Given the description of an element on the screen output the (x, y) to click on. 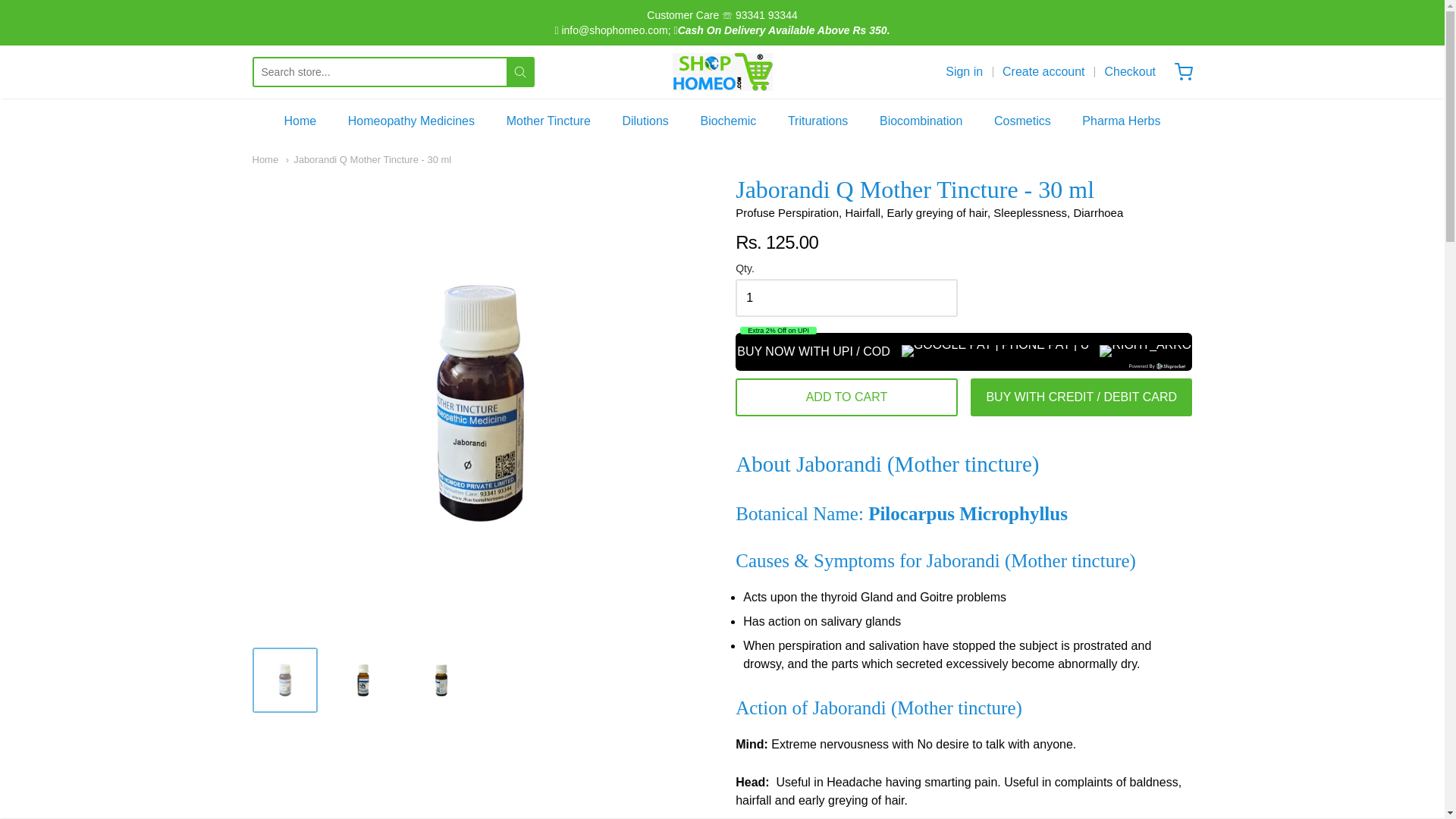
Jaborandi Q Mother Tincture - 30 ml (284, 679)
Jaborandi Q Mother Tincture - 30 ml (363, 679)
Dilutions (644, 120)
Jaborandi Q Mother Tincture - 30 ml (368, 159)
Jaborandi Q Mother Tincture - 30 ml (441, 679)
Pharma Herbs (1120, 120)
Home (299, 120)
Create account (1043, 72)
Mother Tincture (548, 120)
Sign in (963, 72)
1 (846, 297)
Biochemic (727, 120)
Home (264, 159)
